Given the description of an element on the screen output the (x, y) to click on. 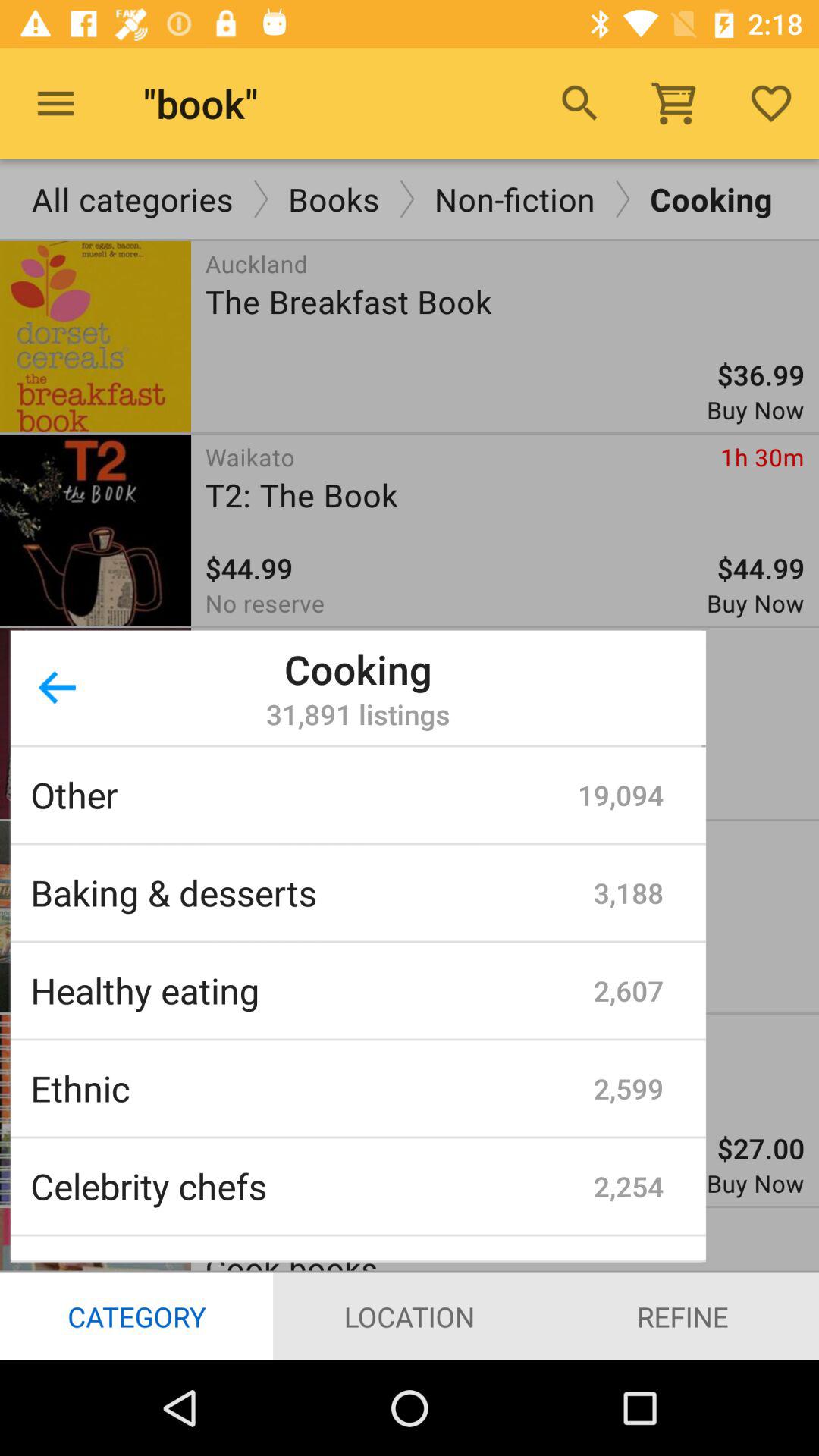
open the celebrity chefs (311, 1185)
